Given the description of an element on the screen output the (x, y) to click on. 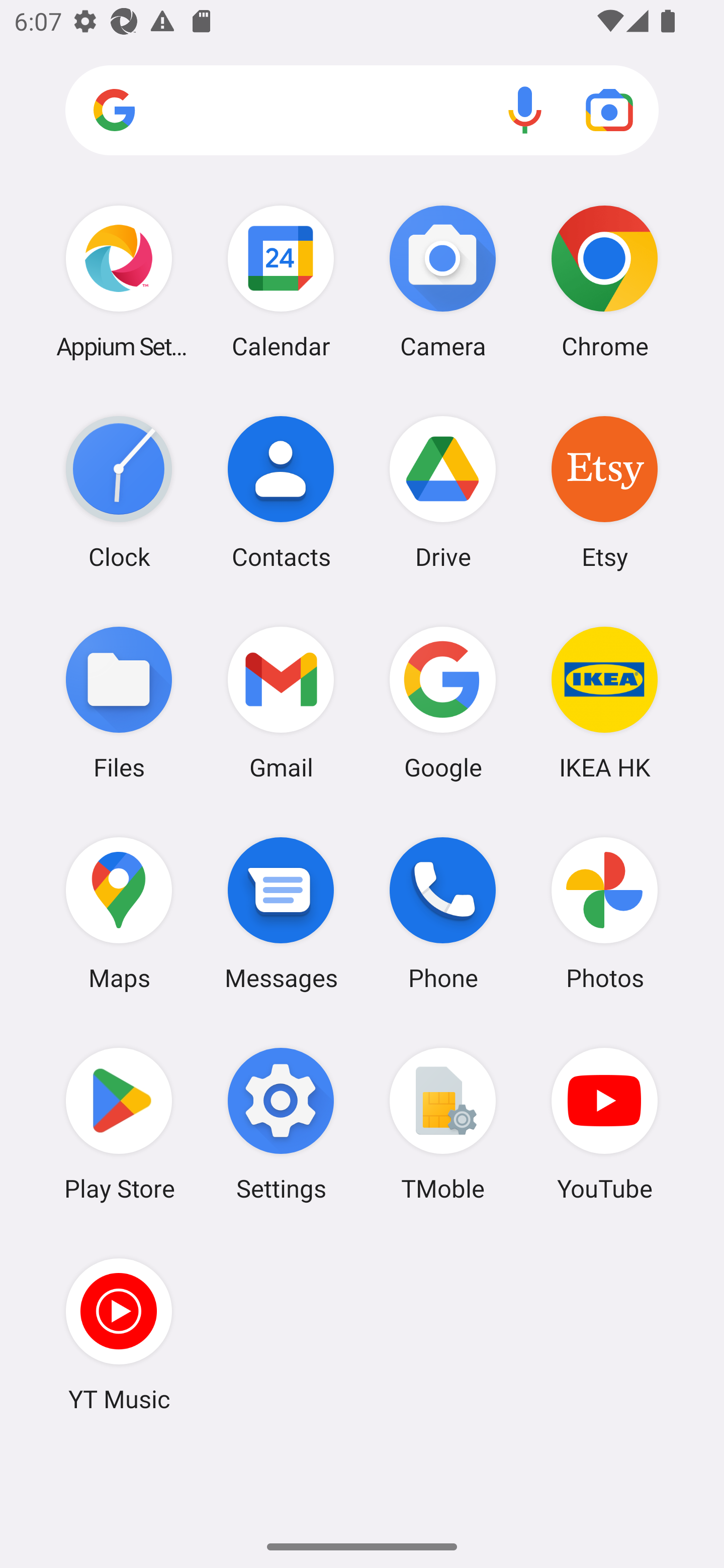
Search apps, web and more (361, 110)
Voice search (524, 109)
Google Lens (608, 109)
Appium Settings (118, 281)
Calendar (280, 281)
Camera (443, 281)
Chrome (604, 281)
Clock (118, 492)
Contacts (280, 492)
Drive (443, 492)
Etsy (604, 492)
Files (118, 702)
Gmail (280, 702)
Google (443, 702)
IKEA HK (604, 702)
Maps (118, 913)
Messages (280, 913)
Phone (443, 913)
Photos (604, 913)
Play Store (118, 1124)
Settings (280, 1124)
TMoble (443, 1124)
YouTube (604, 1124)
YT Music (118, 1334)
